Given the description of an element on the screen output the (x, y) to click on. 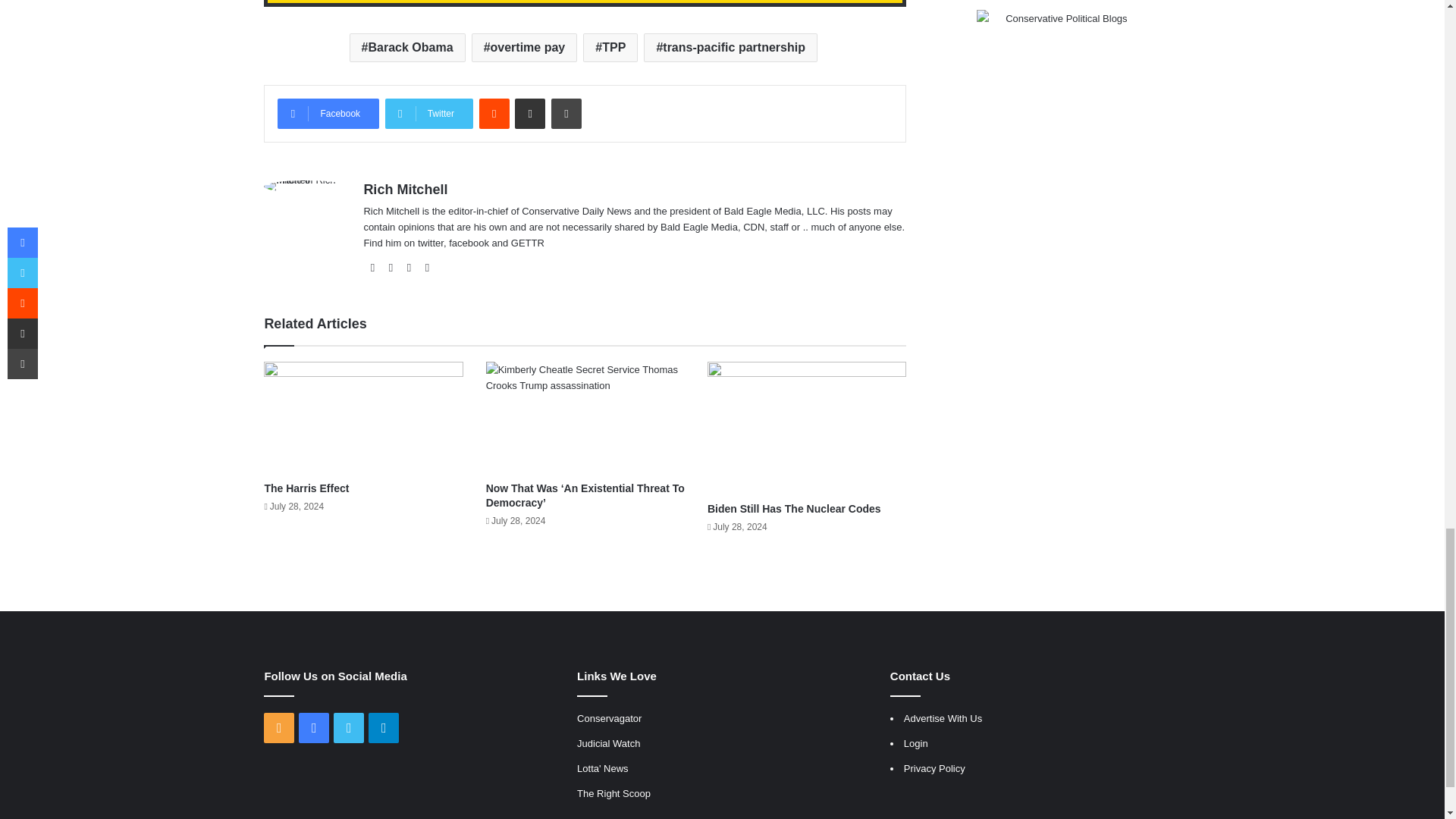
Reddit (494, 113)
Twitter (429, 113)
Facebook (328, 113)
